Given the description of an element on the screen output the (x, y) to click on. 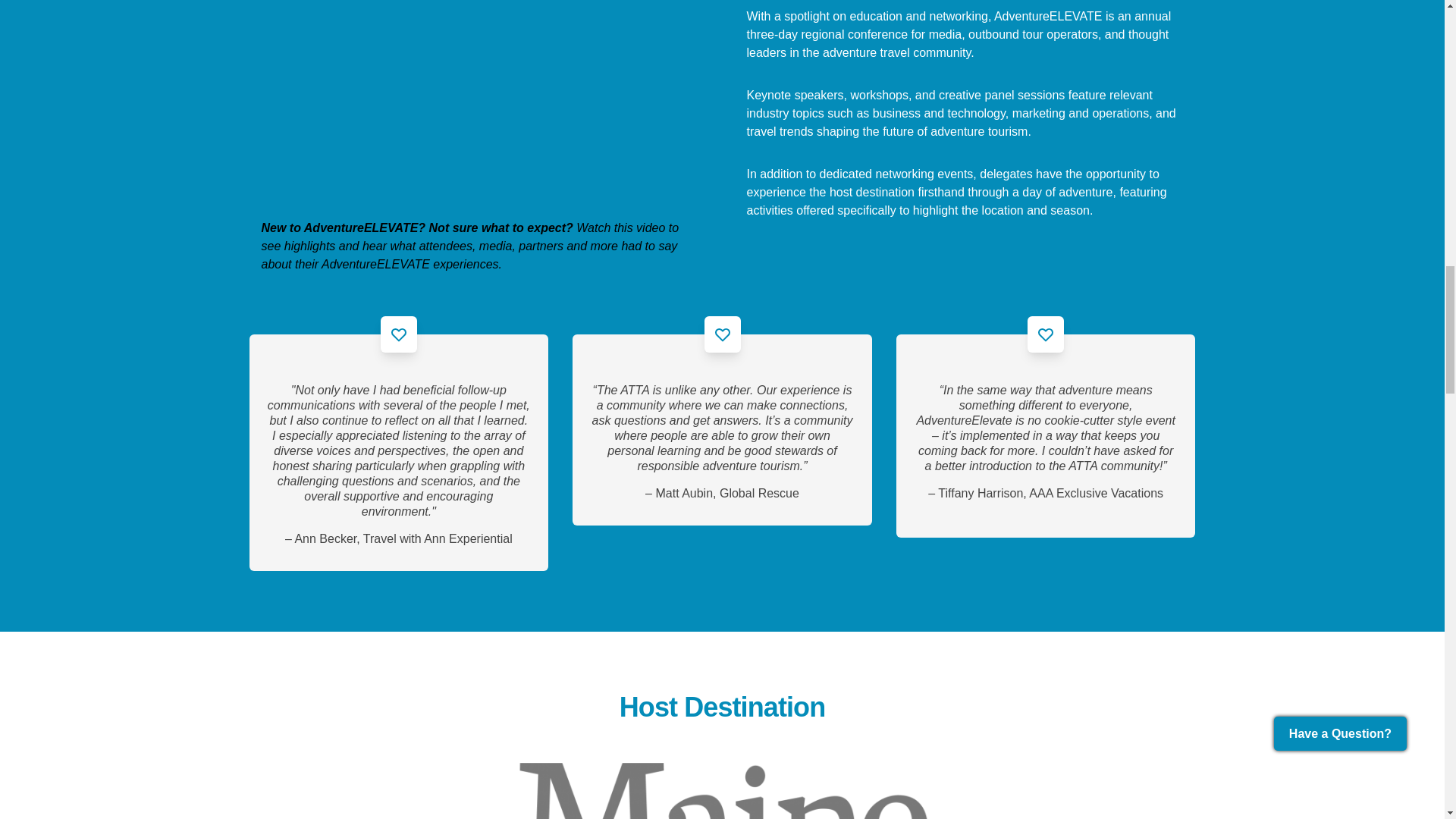
YouTube video player (472, 103)
